Given the description of an element on the screen output the (x, y) to click on. 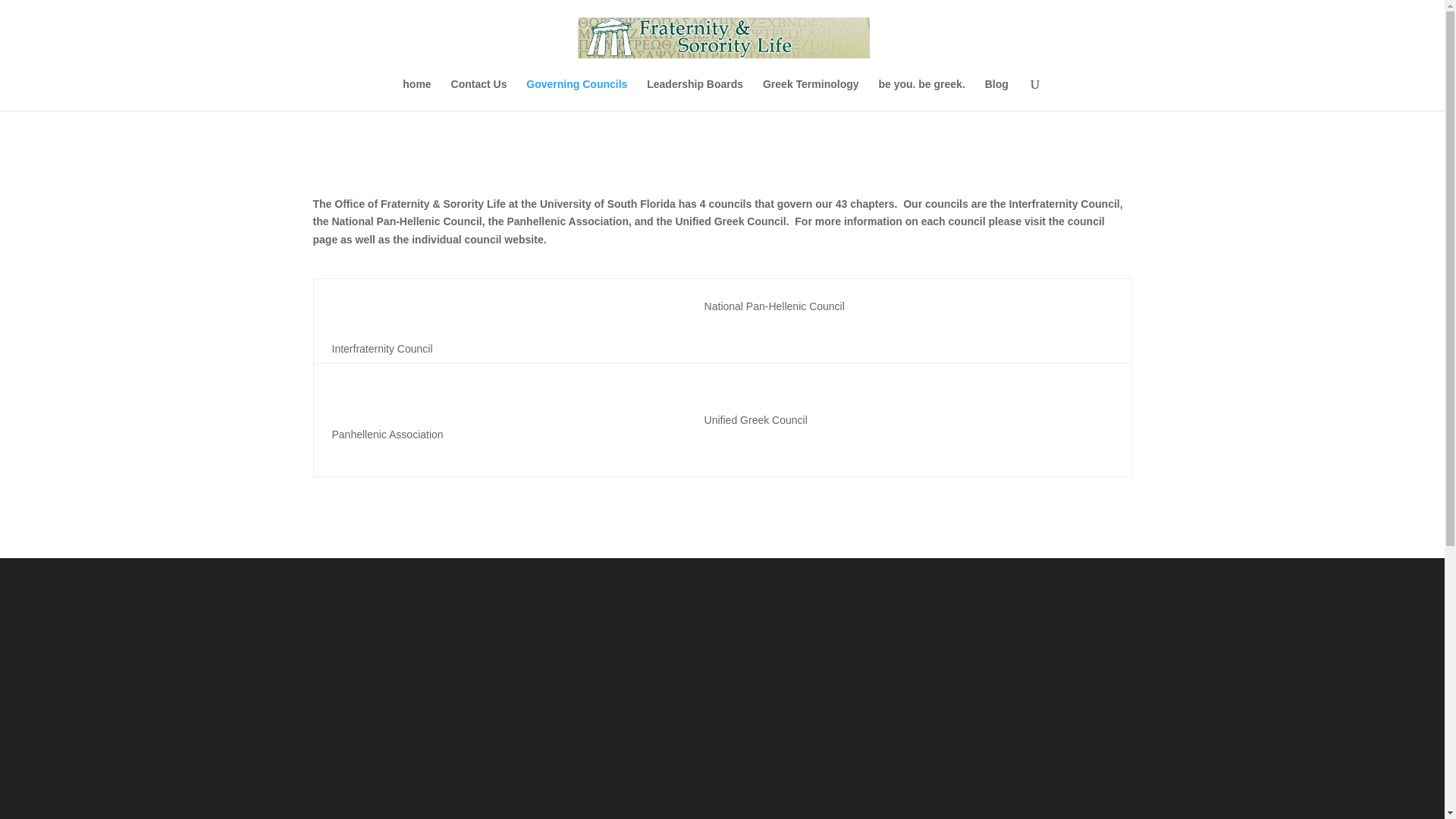
Greek Terminology (810, 94)
Leadership Boards (694, 94)
Governing Councils (576, 94)
be you. be greek. (920, 94)
Contact Us (478, 94)
